Given the description of an element on the screen output the (x, y) to click on. 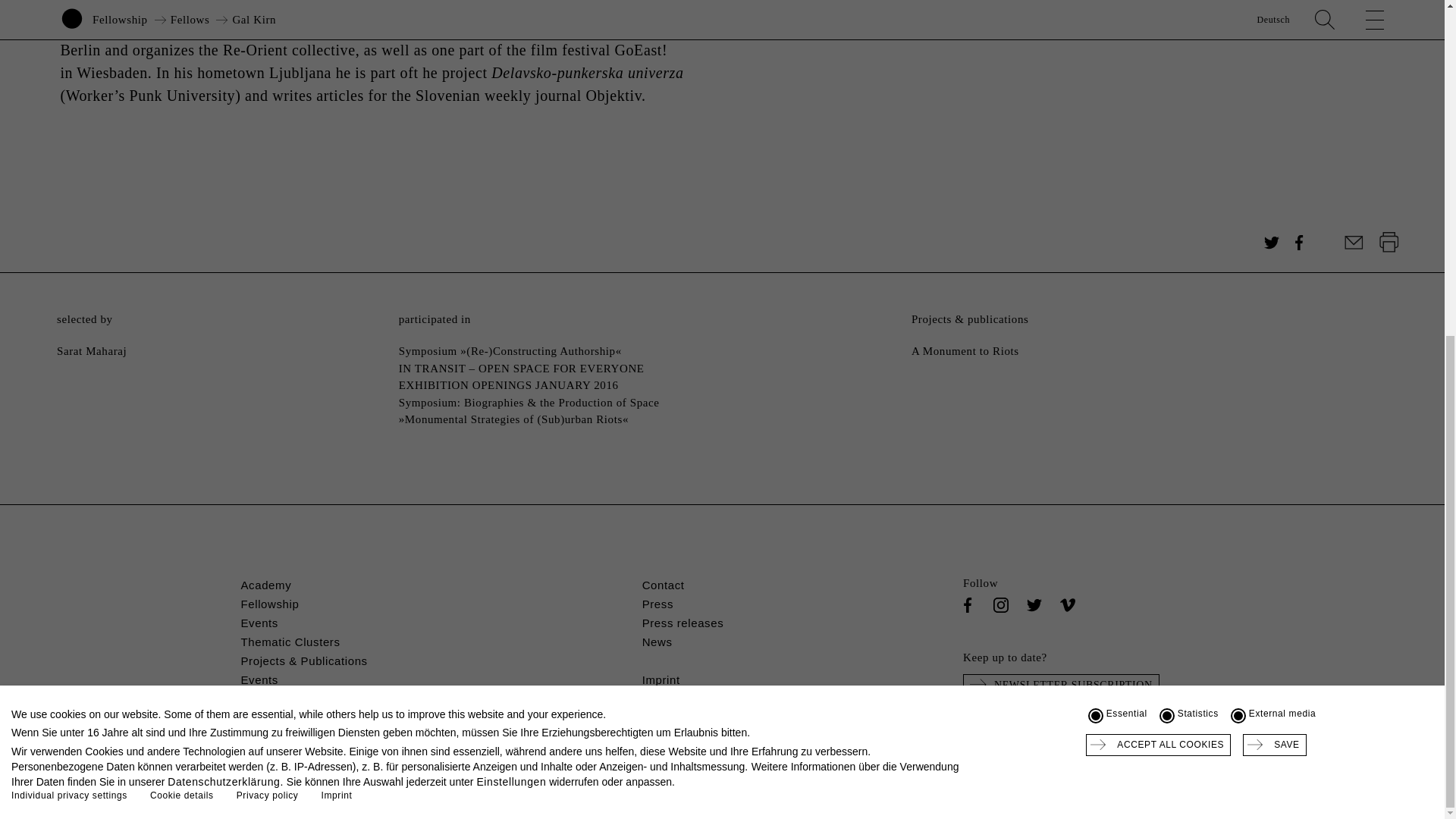
Share on Facebook (1298, 241)
Download (1388, 241)
Send email (1353, 241)
Tweet (1271, 241)
